Given the description of an element on the screen output the (x, y) to click on. 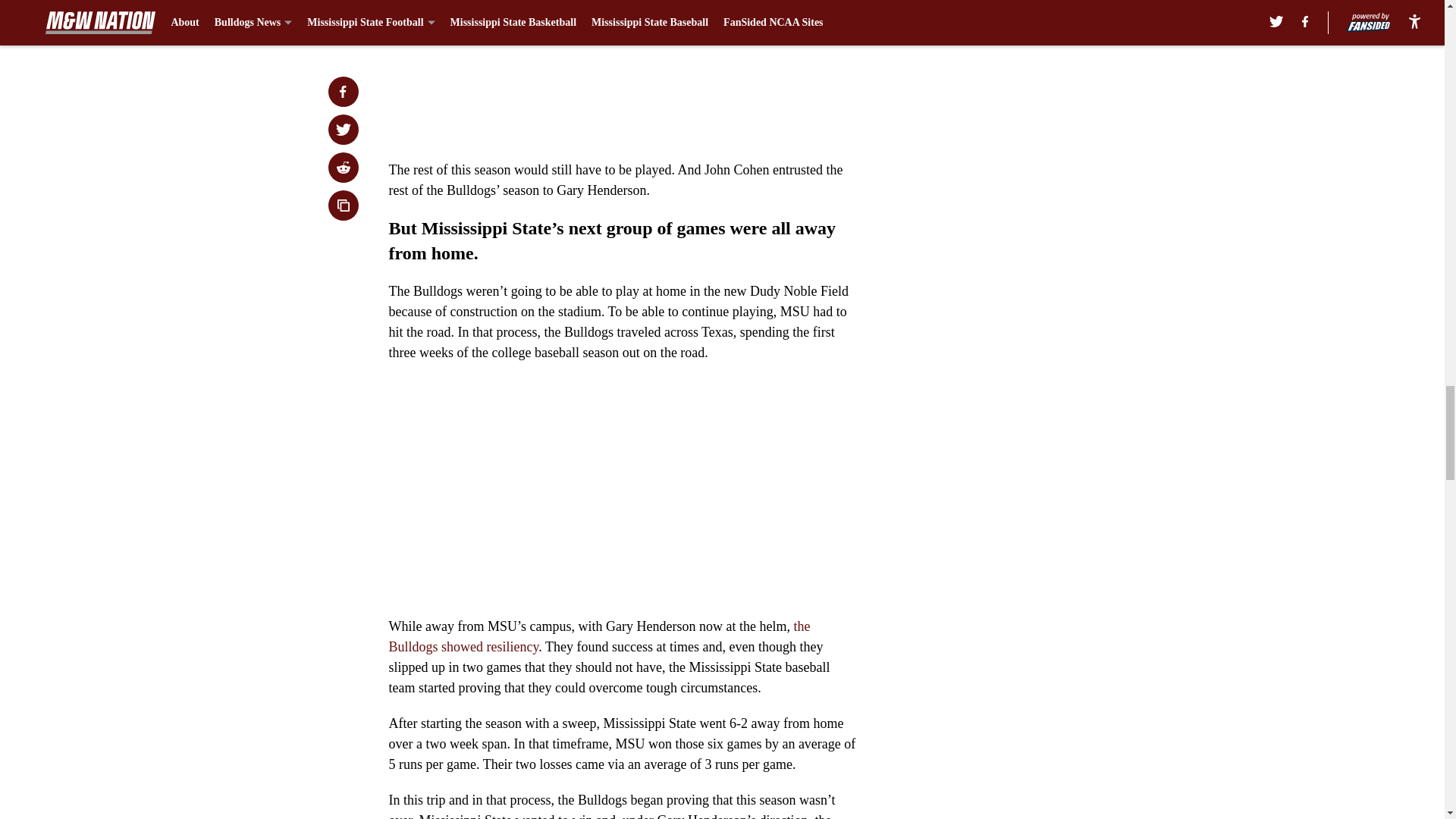
the Bulldogs showed resiliency (598, 636)
